Given the description of an element on the screen output the (x, y) to click on. 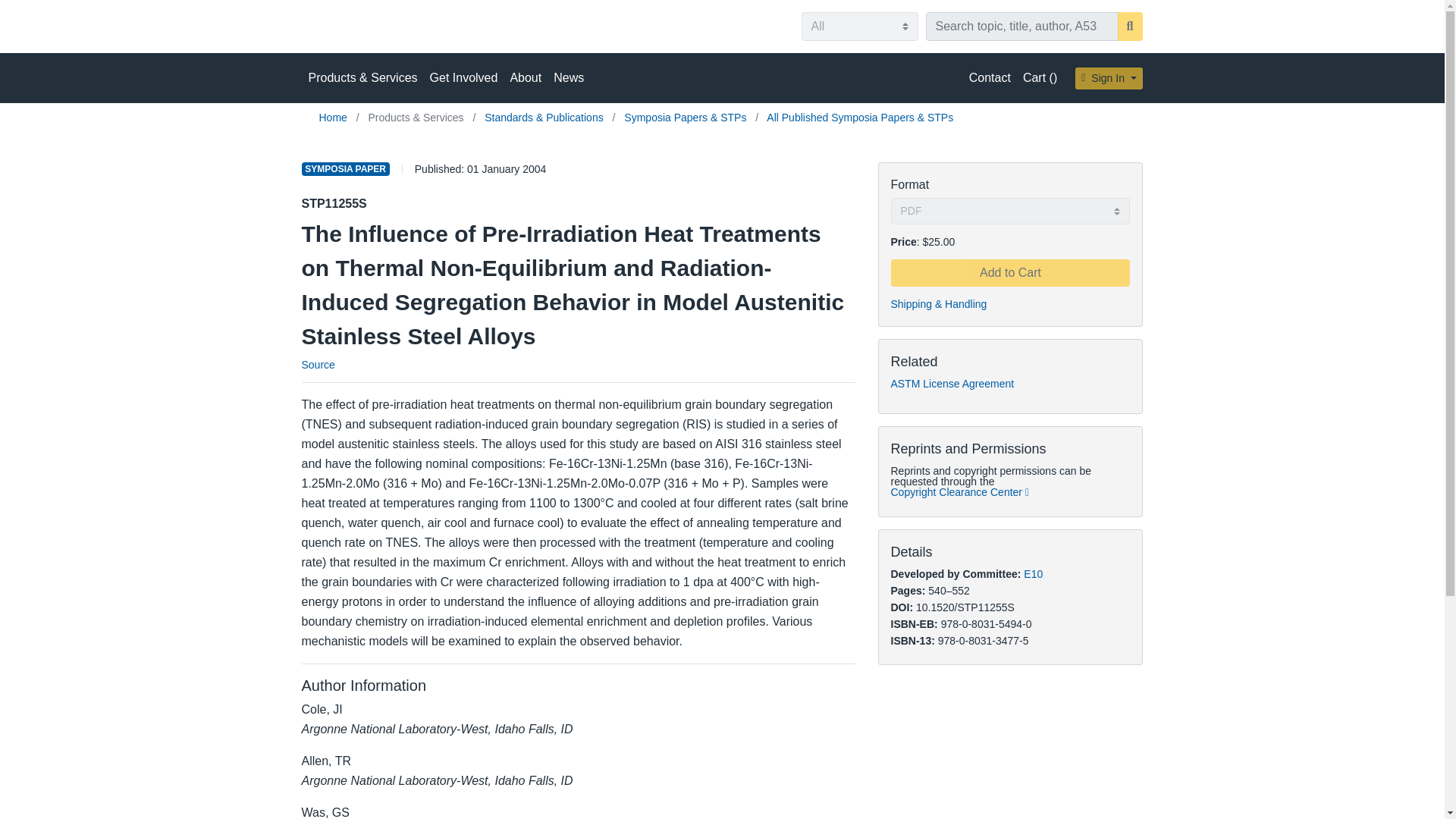
All (858, 26)
Go to Home Page (333, 117)
Add to Cart (1009, 272)
